Given the description of an element on the screen output the (x, y) to click on. 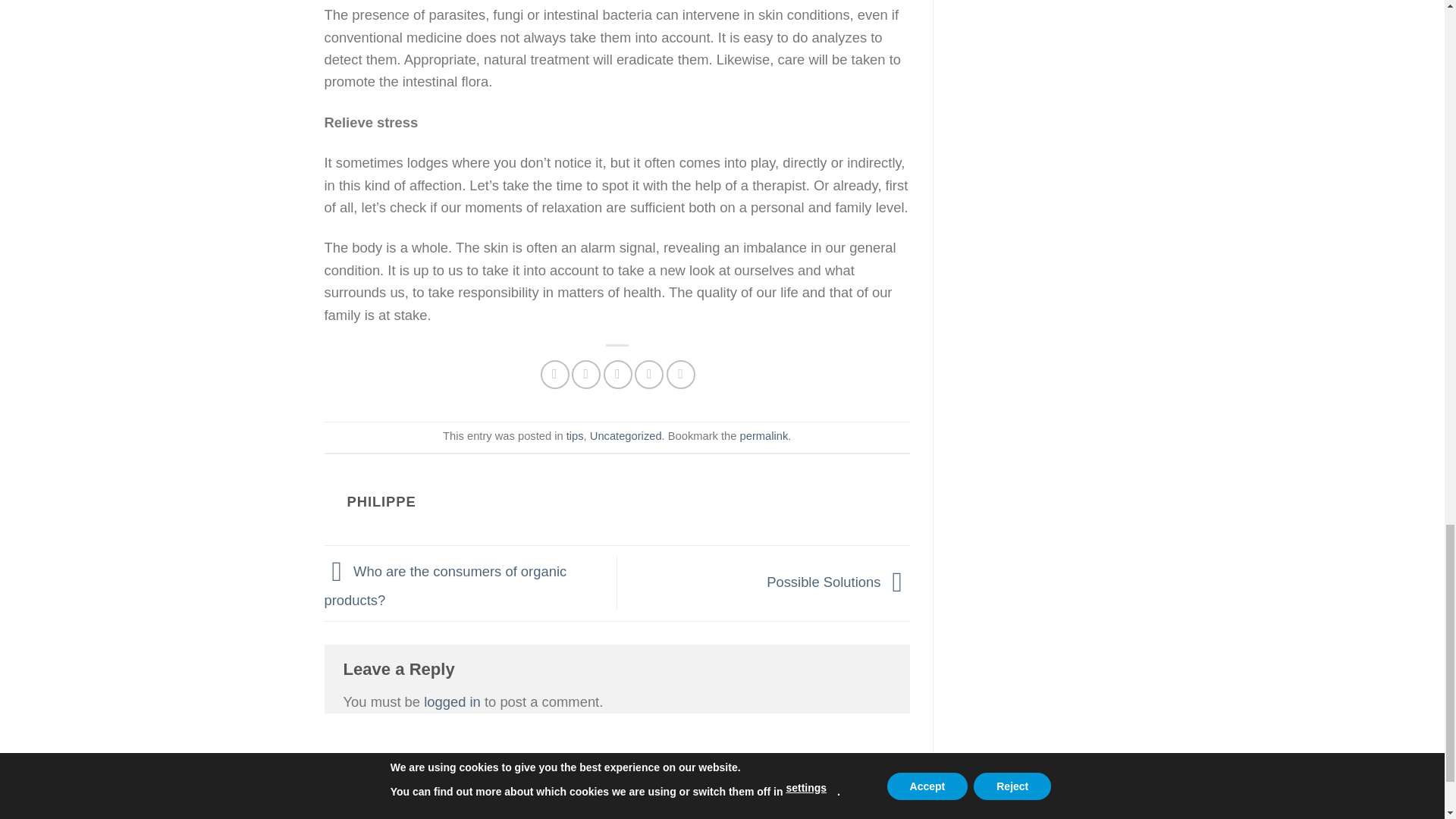
logged in (451, 701)
Who are the consumers of organic products? (445, 584)
Share on Facebook (554, 374)
Uncategorized (625, 435)
Share on LinkedIn (680, 374)
permalink (764, 435)
Share on Twitter (585, 374)
Email to a Friend (617, 374)
Permalink to Lifestyle (764, 435)
Possible Solutions (838, 581)
GENERAL TERMS AND CONDITIONS OF SALE (450, 794)
Pin on Pinterest (648, 374)
tips (574, 435)
